Given the description of an element on the screen output the (x, y) to click on. 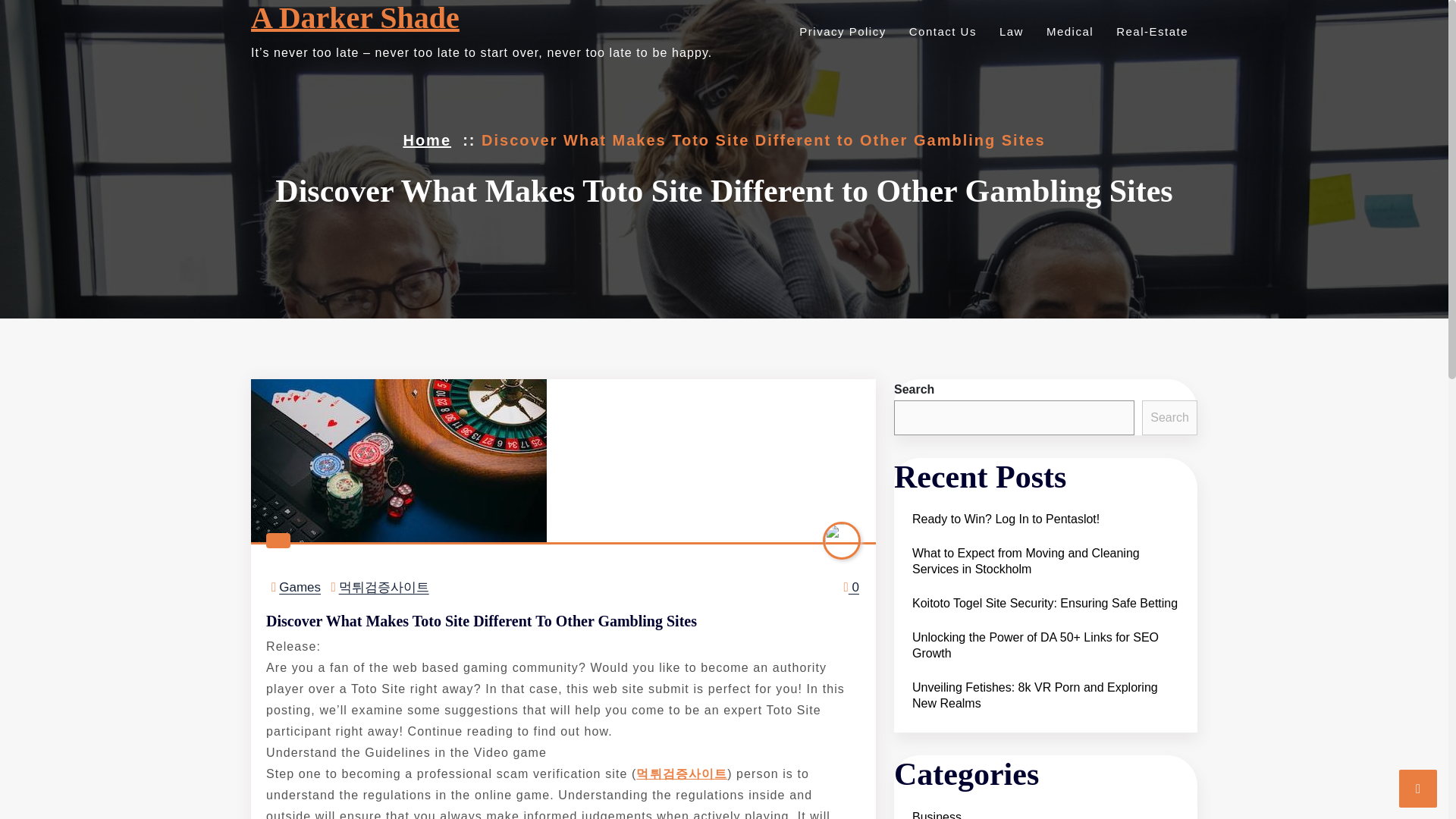
Search (1168, 417)
Privacy Policy (839, 31)
Medical (1067, 31)
Law (1008, 31)
Real-Estate (1149, 31)
Medical (1067, 31)
Contact Us (940, 31)
Unveiling Fetishes: 8k VR Porn and Exploring New Realms (1045, 695)
Koitoto Togel Site Security: Ensuring Safe Betting (1044, 602)
Real-Estate (1149, 31)
Home (427, 139)
Ready to Win? Log In to Pentaslot! (1005, 519)
Games (299, 586)
Privacy Policy (839, 31)
